Given the description of an element on the screen output the (x, y) to click on. 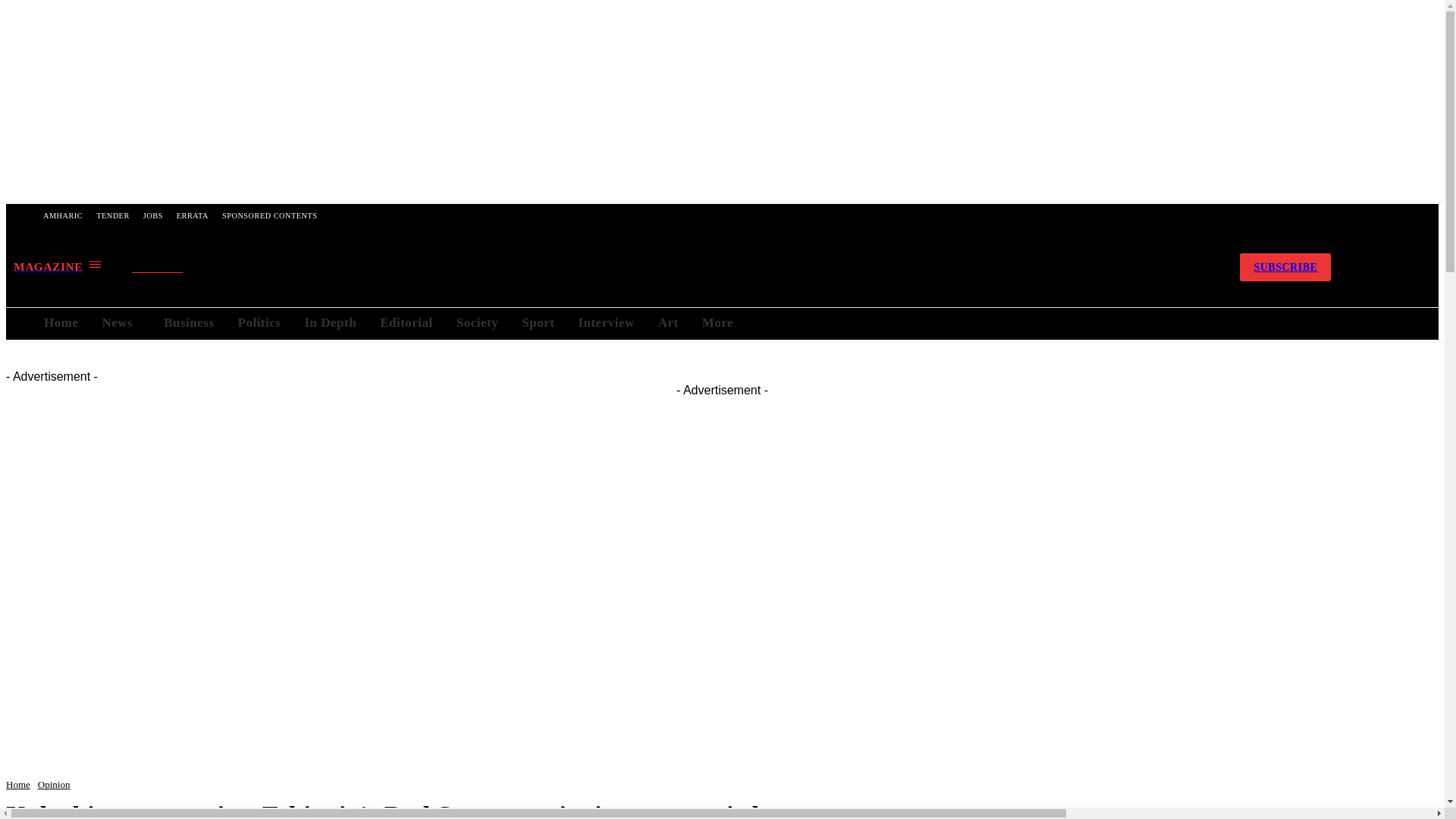
Magazine (57, 266)
The Reporter Ethiopia, Ethiopian News (672, 267)
ERRATA (192, 216)
TENDER (112, 216)
Twitter (1166, 267)
SPONSORED CONTENTS (269, 216)
The Reporter Ethiopia, Ethiopian News (672, 267)
Telegram (1125, 267)
Facebook (1086, 267)
JOBS (153, 216)
SEARCH (170, 267)
AMHARIC (62, 216)
MAGAZINE (57, 266)
